Given the description of an element on the screen output the (x, y) to click on. 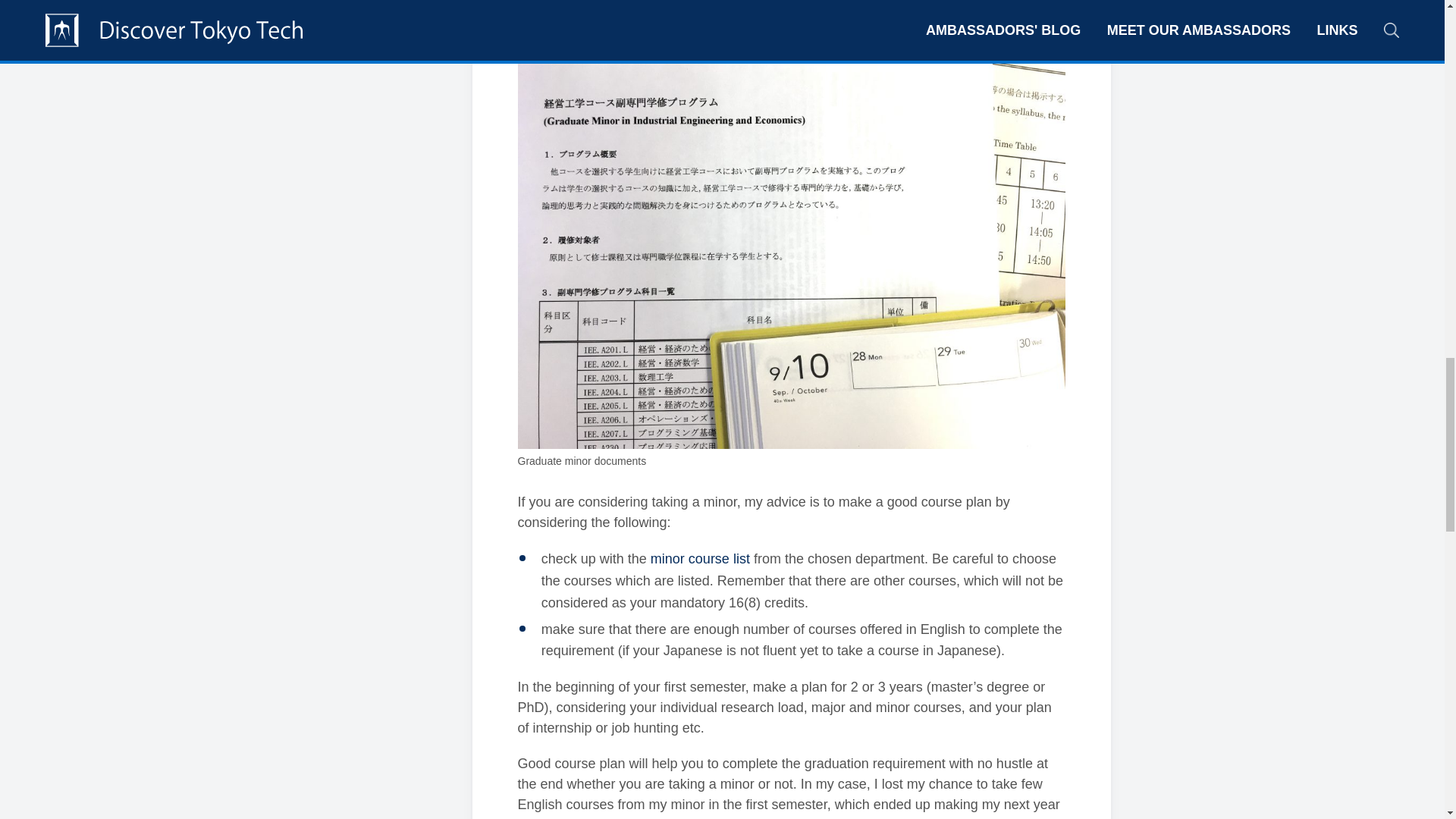
minor course list (699, 558)
